Given the description of an element on the screen output the (x, y) to click on. 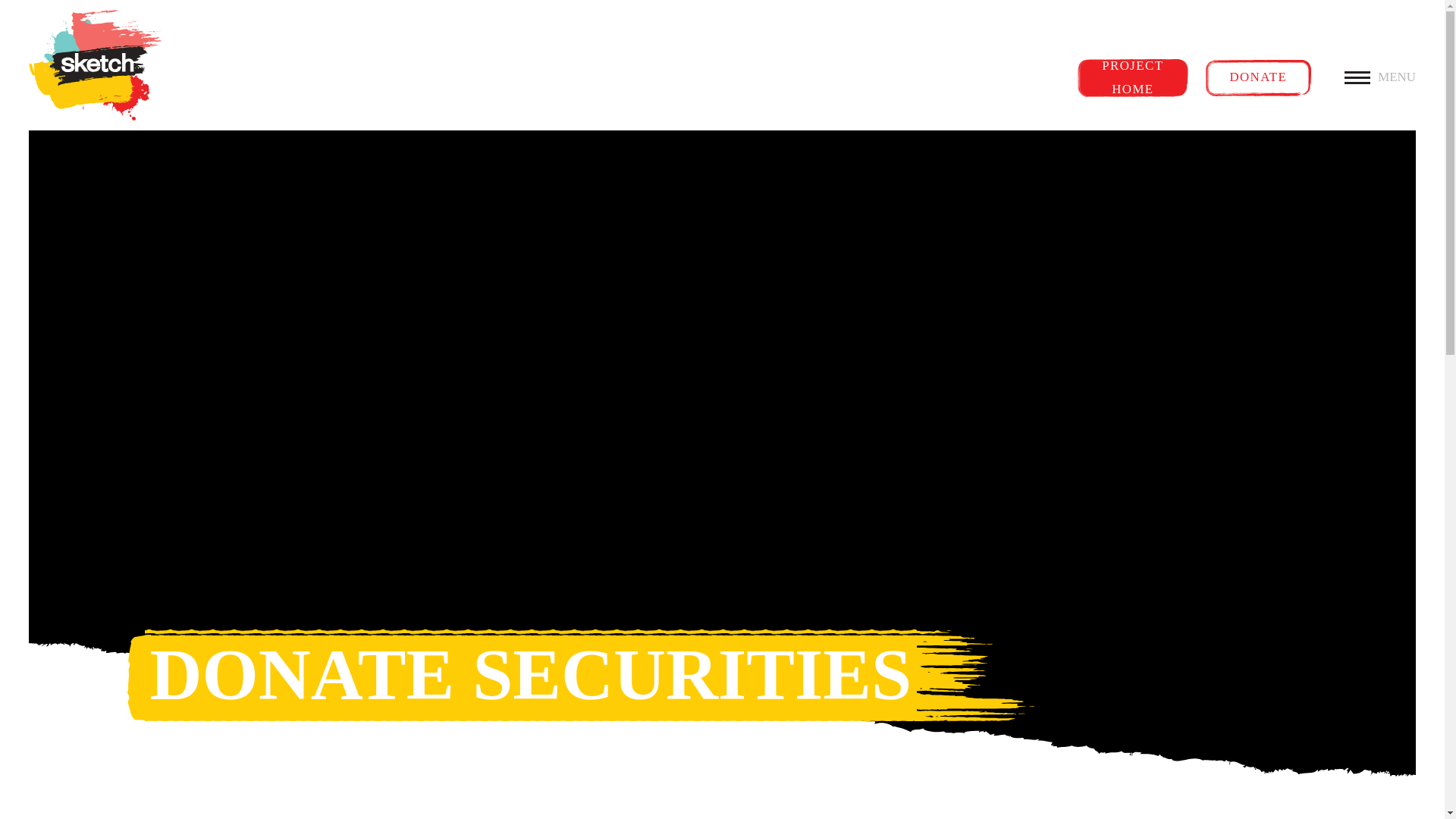
DONATE (1257, 77)
PROJECT HOME (1132, 77)
MENU (1379, 77)
